Given the description of an element on the screen output the (x, y) to click on. 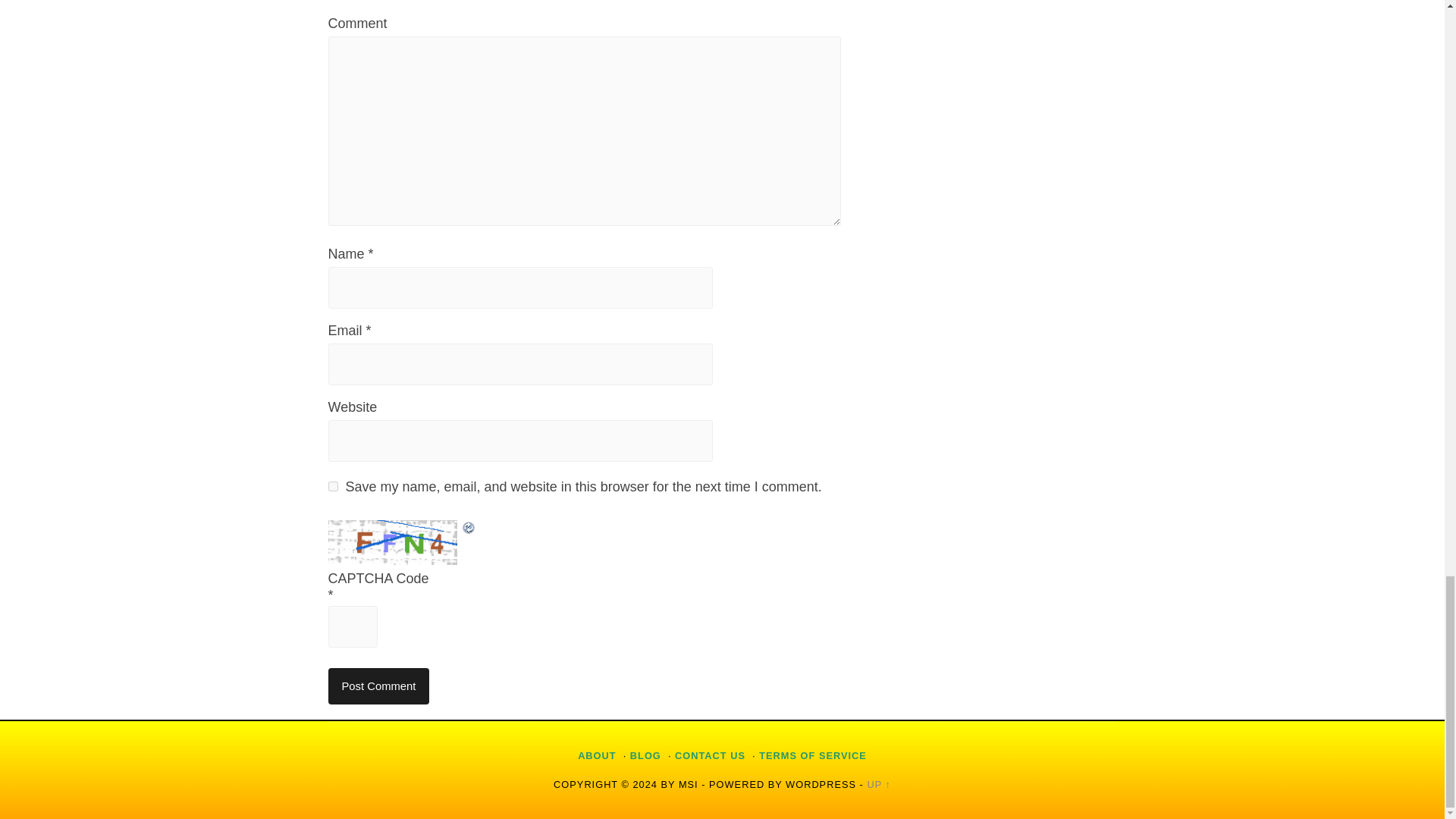
Post Comment (378, 686)
To the top (878, 784)
CAPTCHA Image (393, 542)
yes (332, 486)
Refresh Image (469, 528)
